Given the description of an element on the screen output the (x, y) to click on. 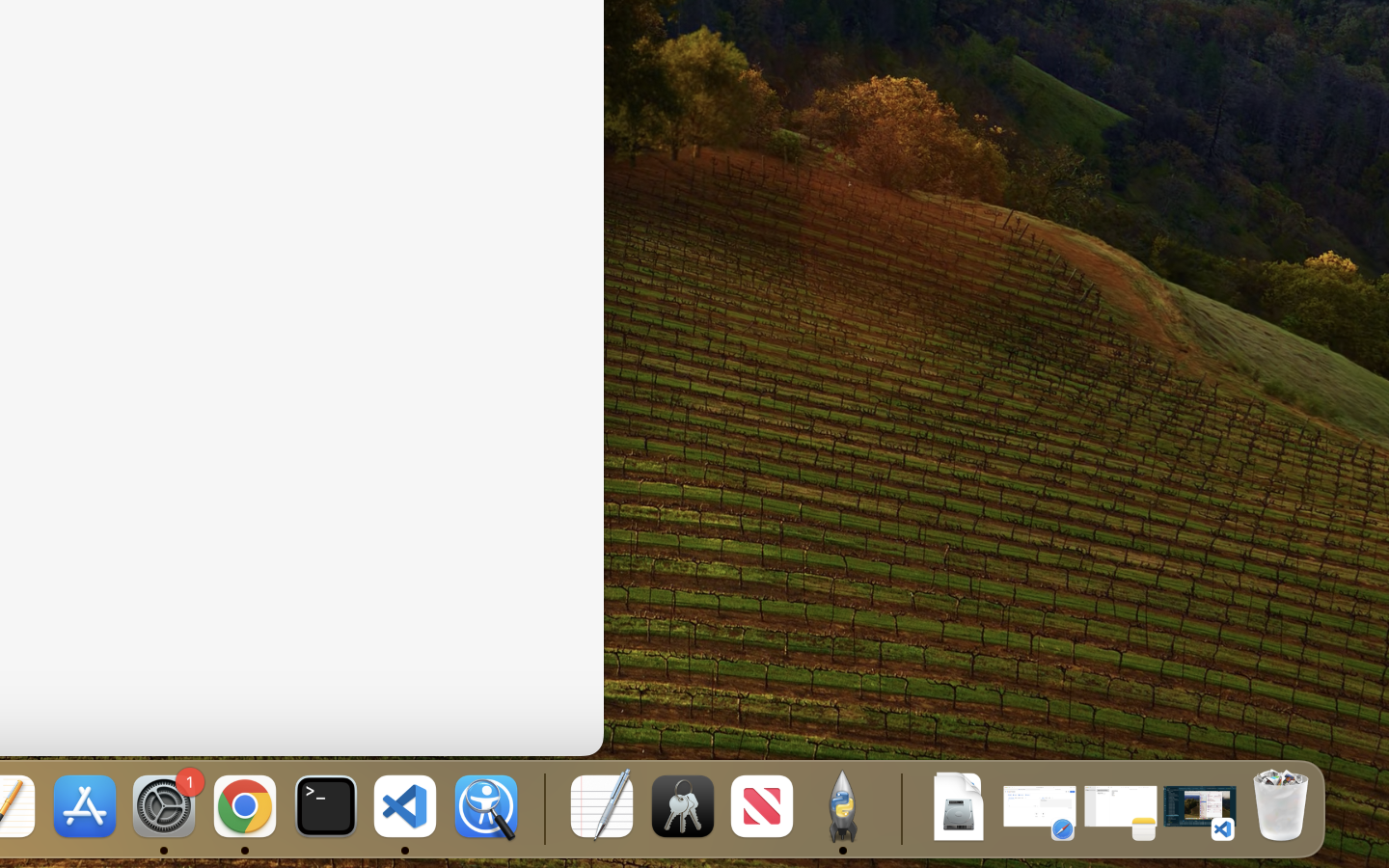
0.4285714328289032 Element type: AXDockItem (541, 807)
